Given the description of an element on the screen output the (x, y) to click on. 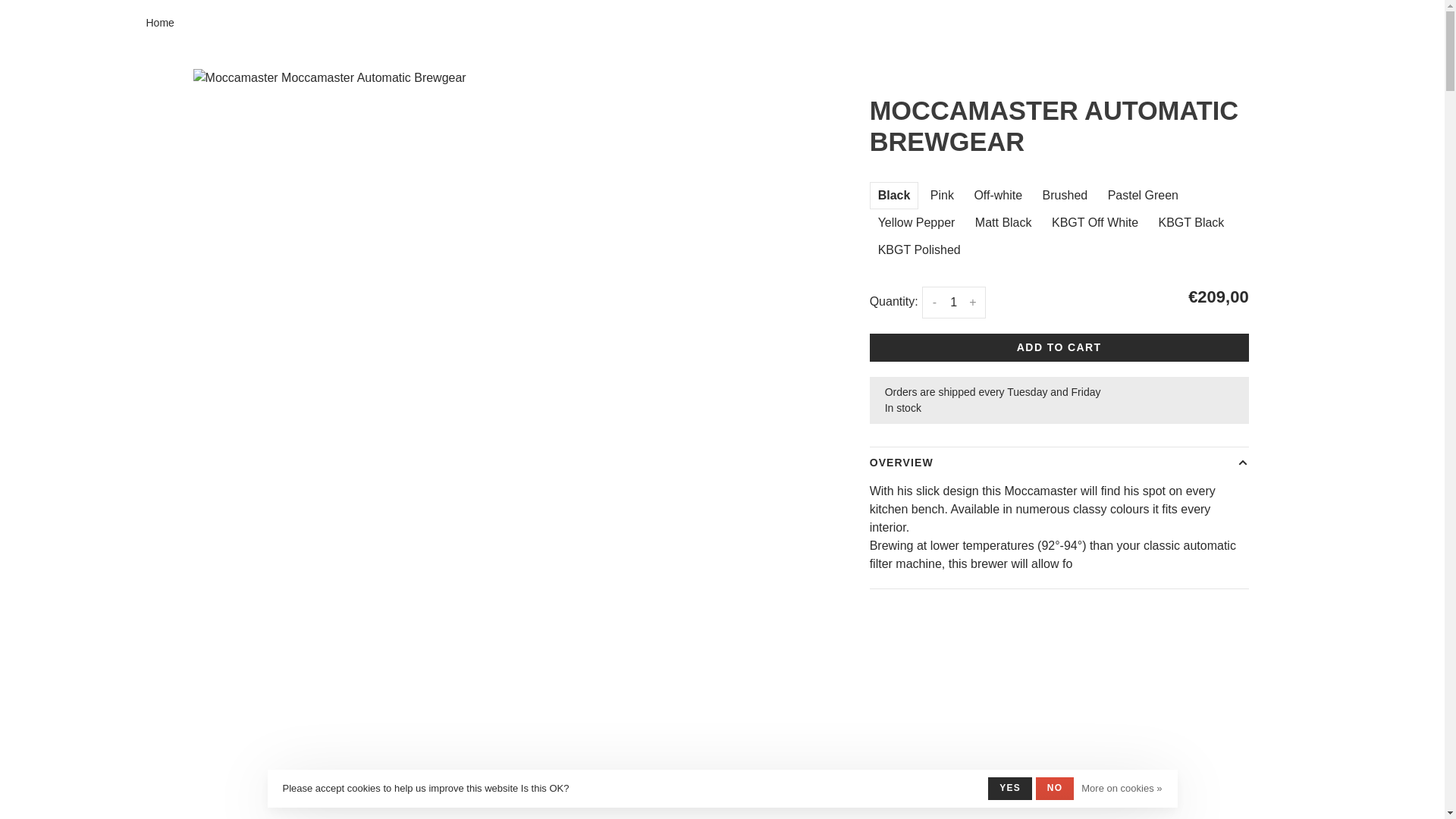
+ Element type: text (972, 302)
Matt Black Element type: text (1003, 222)
KBGT Off White Element type: text (1094, 222)
Black Element type: text (894, 195)
- Element type: text (934, 302)
Off-white Element type: text (997, 195)
KBGT Black Element type: text (1191, 222)
Yellow Pepper Element type: text (916, 222)
Brushed Element type: text (1065, 195)
YES Element type: text (1010, 788)
Pink Element type: text (942, 195)
OVERVIEW Element type: text (1058, 462)
Home Element type: text (159, 22)
ADD TO CART Element type: text (1058, 347)
Pastel Green Element type: text (1142, 195)
KBGT Polished Element type: text (919, 249)
NO Element type: text (1054, 788)
